Given the description of an element on the screen output the (x, y) to click on. 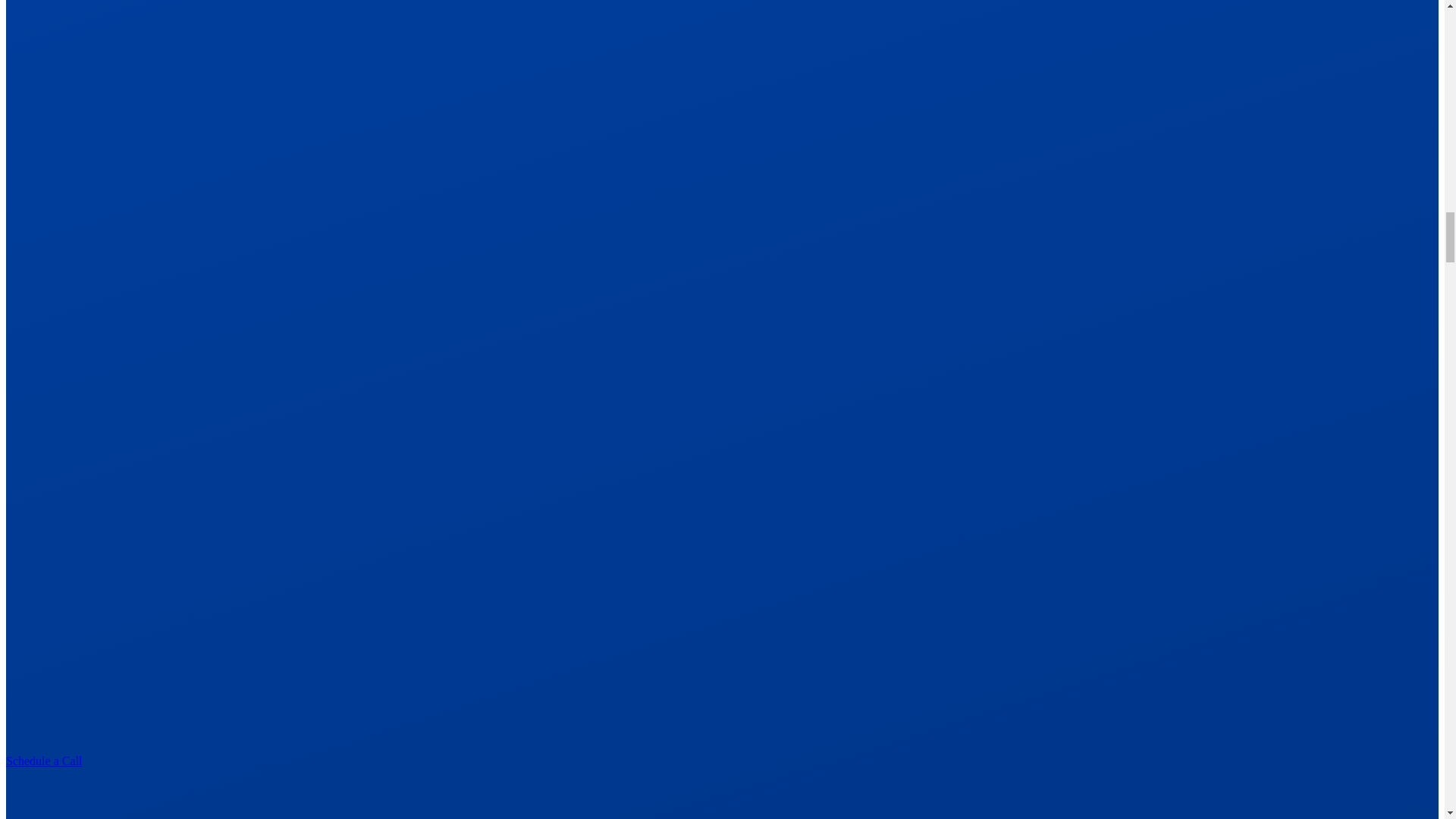
Schedule a Call (721, 786)
